Given the description of an element on the screen output the (x, y) to click on. 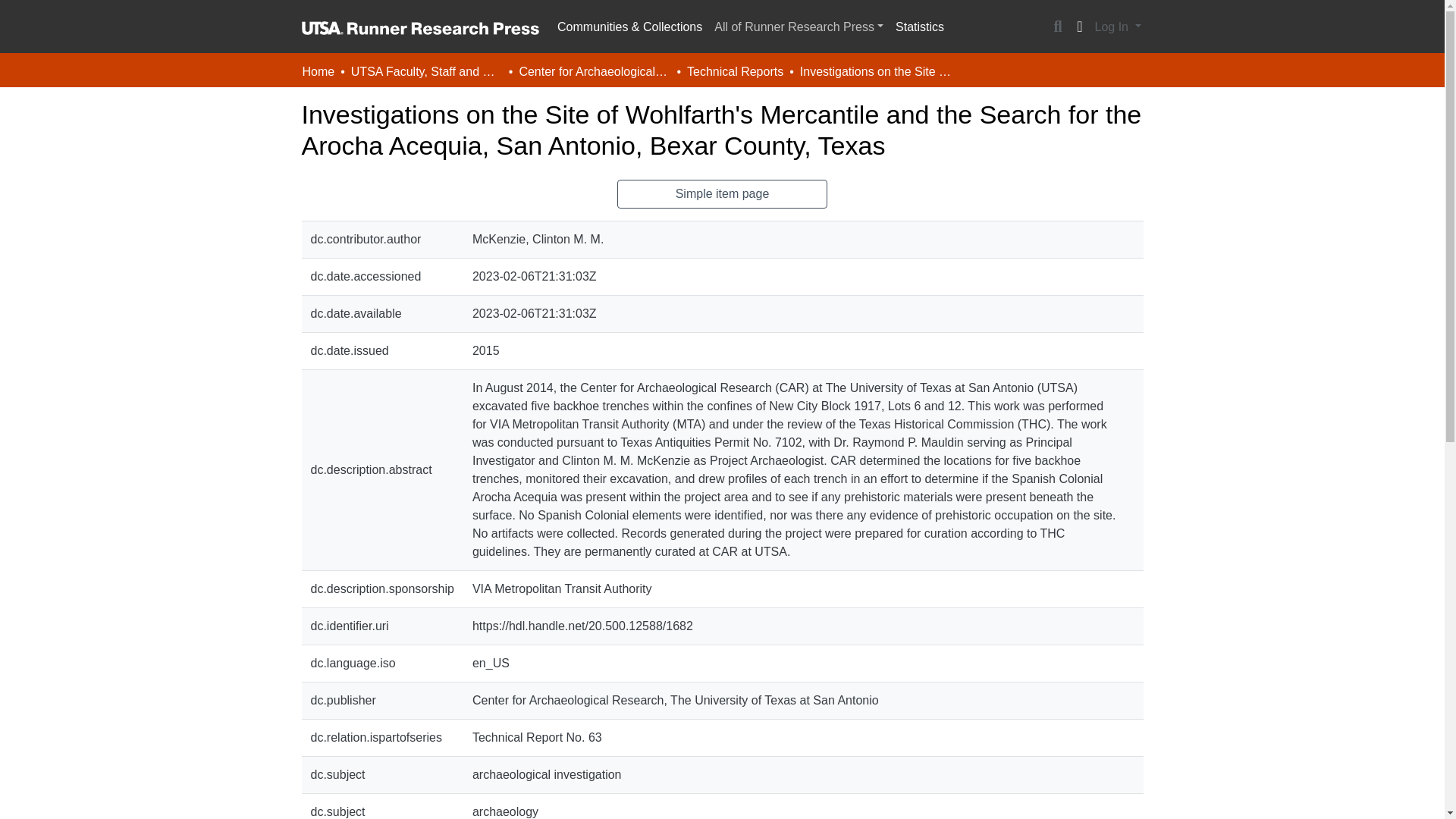
Home (317, 72)
Search (1057, 27)
Log In (1117, 26)
UTSA Faculty, Staff and Postdoctoral Researcher Work (426, 72)
Statistics (919, 27)
Simple item page (722, 193)
Center for Archaeological Research (593, 72)
Language switch (1079, 27)
Technical Reports (735, 72)
All of Runner Research Press (798, 27)
Statistics (919, 27)
